Given the description of an element on the screen output the (x, y) to click on. 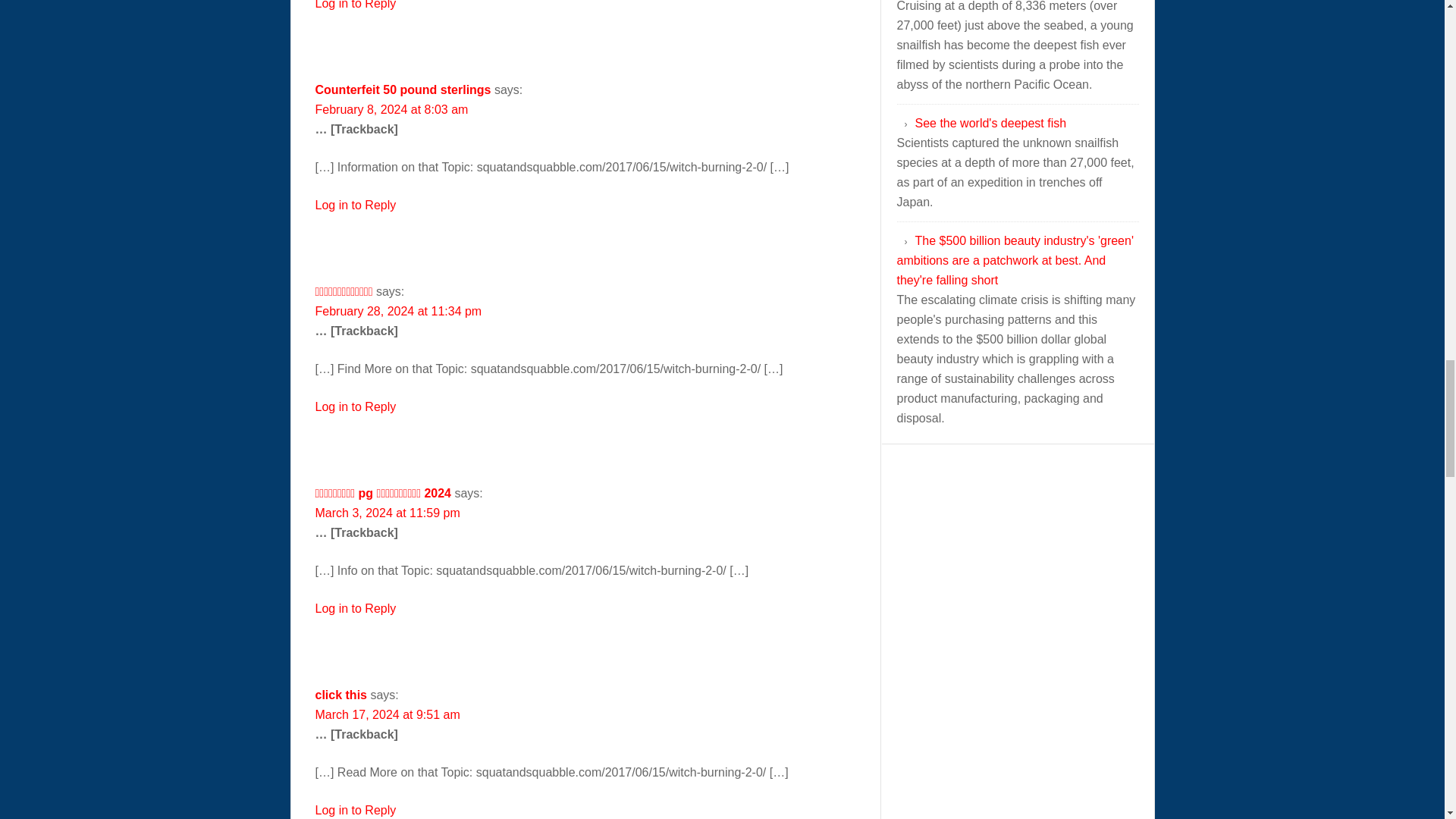
March 3, 2024 at 11:59 pm (387, 512)
Log in to Reply (355, 406)
March 17, 2024 at 9:51 am (387, 714)
Counterfeit 50 pound sterlings (403, 89)
click this (340, 694)
February 28, 2024 at 11:34 pm (398, 310)
Log in to Reply (355, 809)
Log in to Reply (355, 608)
Log in to Reply (355, 205)
Log in to Reply (355, 4)
February 8, 2024 at 8:03 am (391, 109)
